Given the description of an element on the screen output the (x, y) to click on. 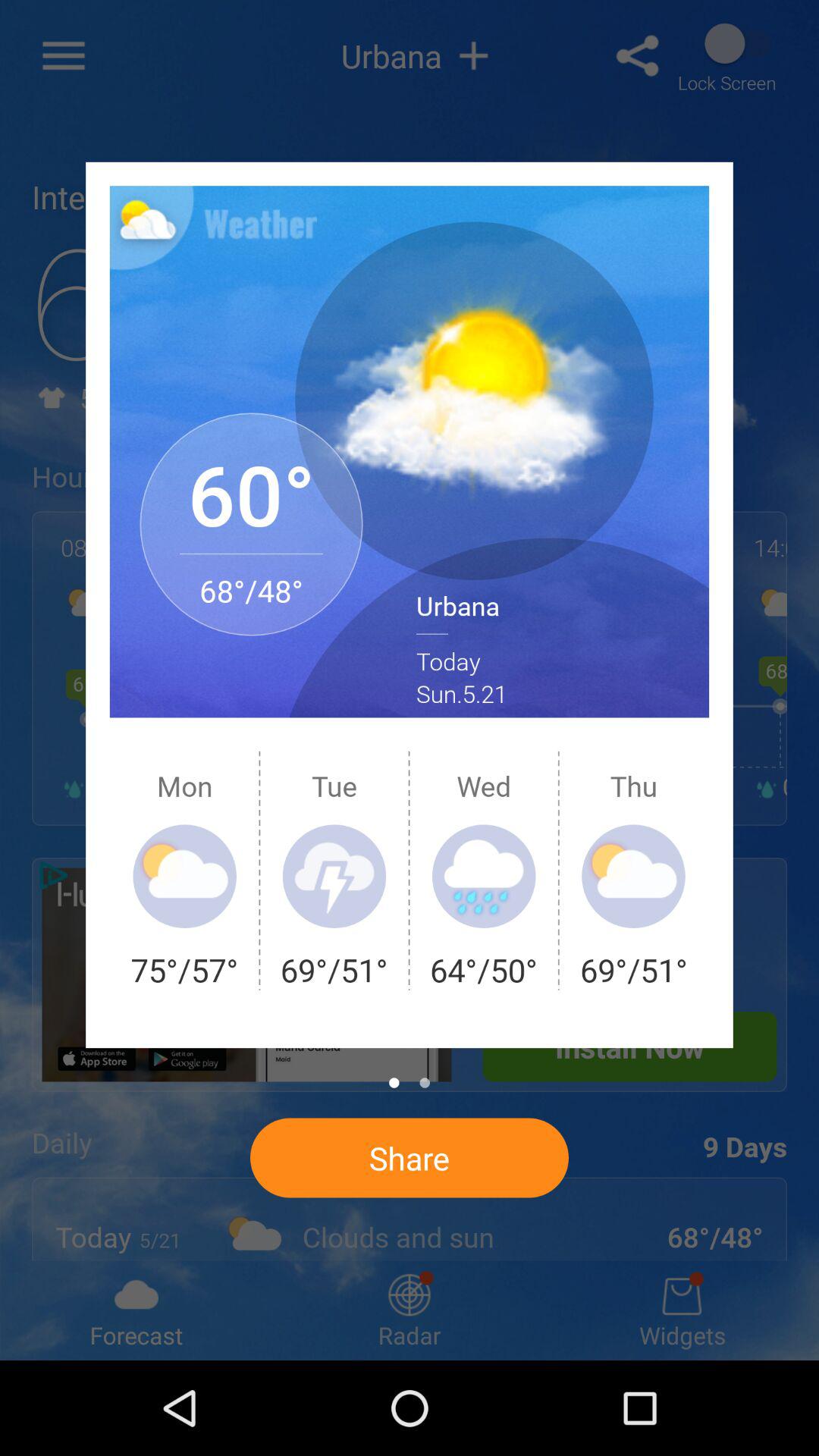
jump until share (409, 1157)
